Given the description of an element on the screen output the (x, y) to click on. 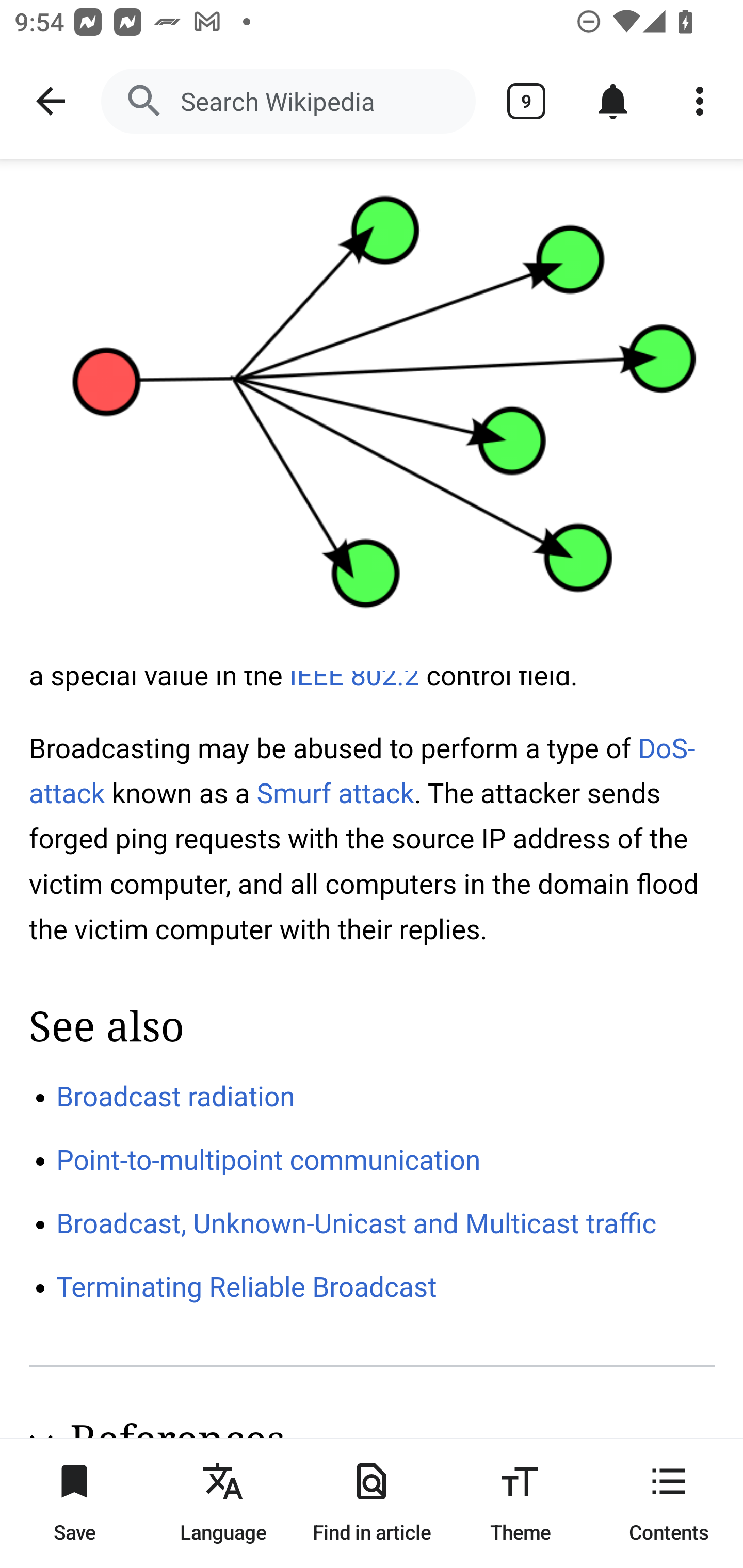
Show tabs 9 (525, 100)
Notifications (612, 100)
Navigate up (50, 101)
More options (699, 101)
Search Wikipedia (288, 100)
Image: Broadcasting (networking) (371, 414)
DoS-attack (362, 770)
Smurf attack (335, 793)
Broadcast radiation (175, 1095)
Point-to-multipoint communication (268, 1160)
Broadcast, Unknown-Unicast and Multicast traffic (356, 1222)
Terminating Reliable Broadcast (246, 1287)
Save (74, 1502)
Language (222, 1502)
Find in article (371, 1502)
Theme (519, 1502)
Contents (668, 1502)
